Given the description of an element on the screen output the (x, y) to click on. 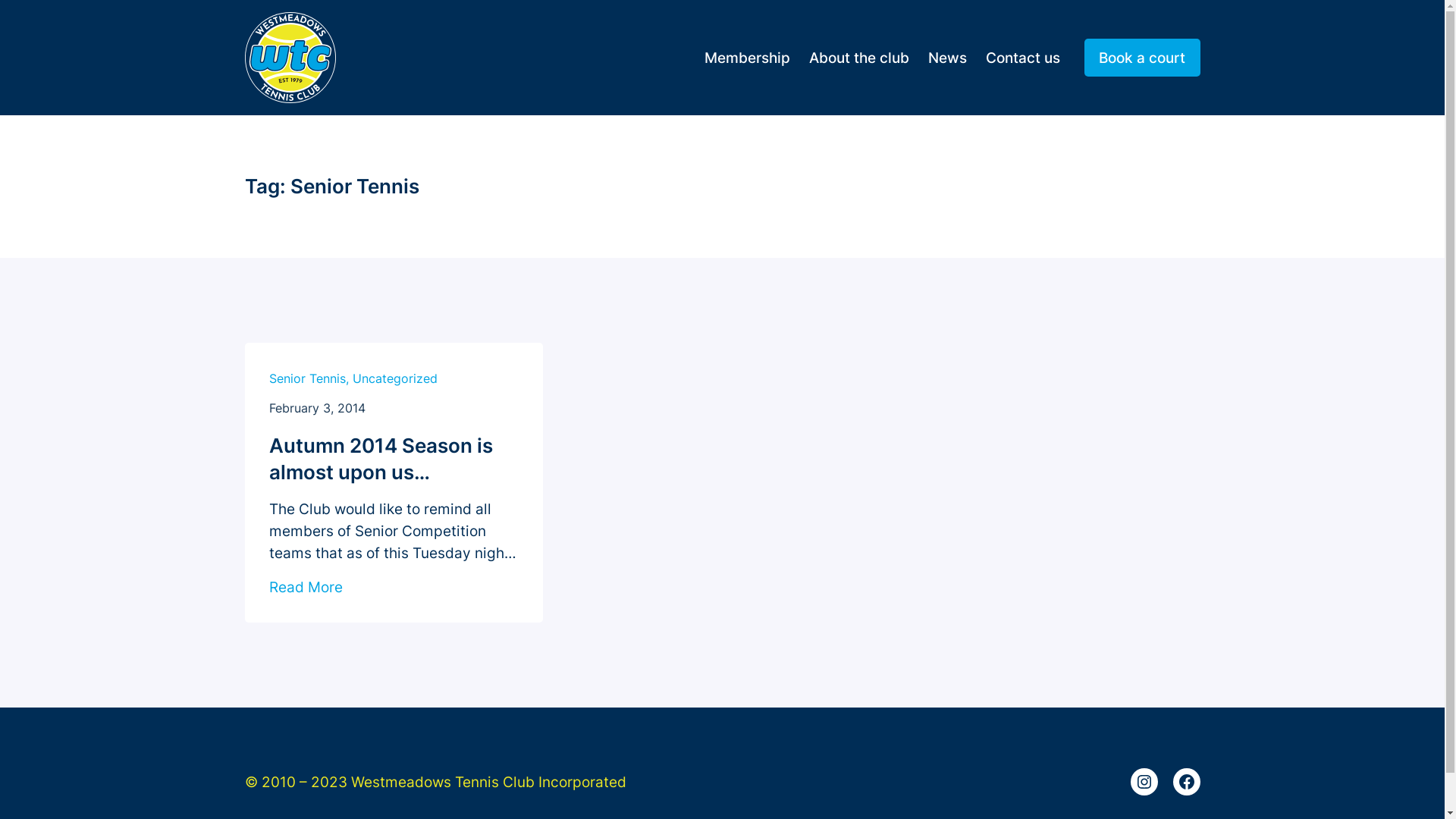
About the club Element type: text (859, 57)
Membership Element type: text (747, 57)
Facebook Element type: text (1185, 781)
Uncategorized Element type: text (393, 377)
Book a court Element type: text (1141, 57)
Senior Tennis Element type: text (306, 377)
Instagram Element type: text (1143, 781)
News Element type: text (947, 57)
Read More Element type: text (305, 587)
Contact us Element type: text (1022, 57)
